Given the description of an element on the screen output the (x, y) to click on. 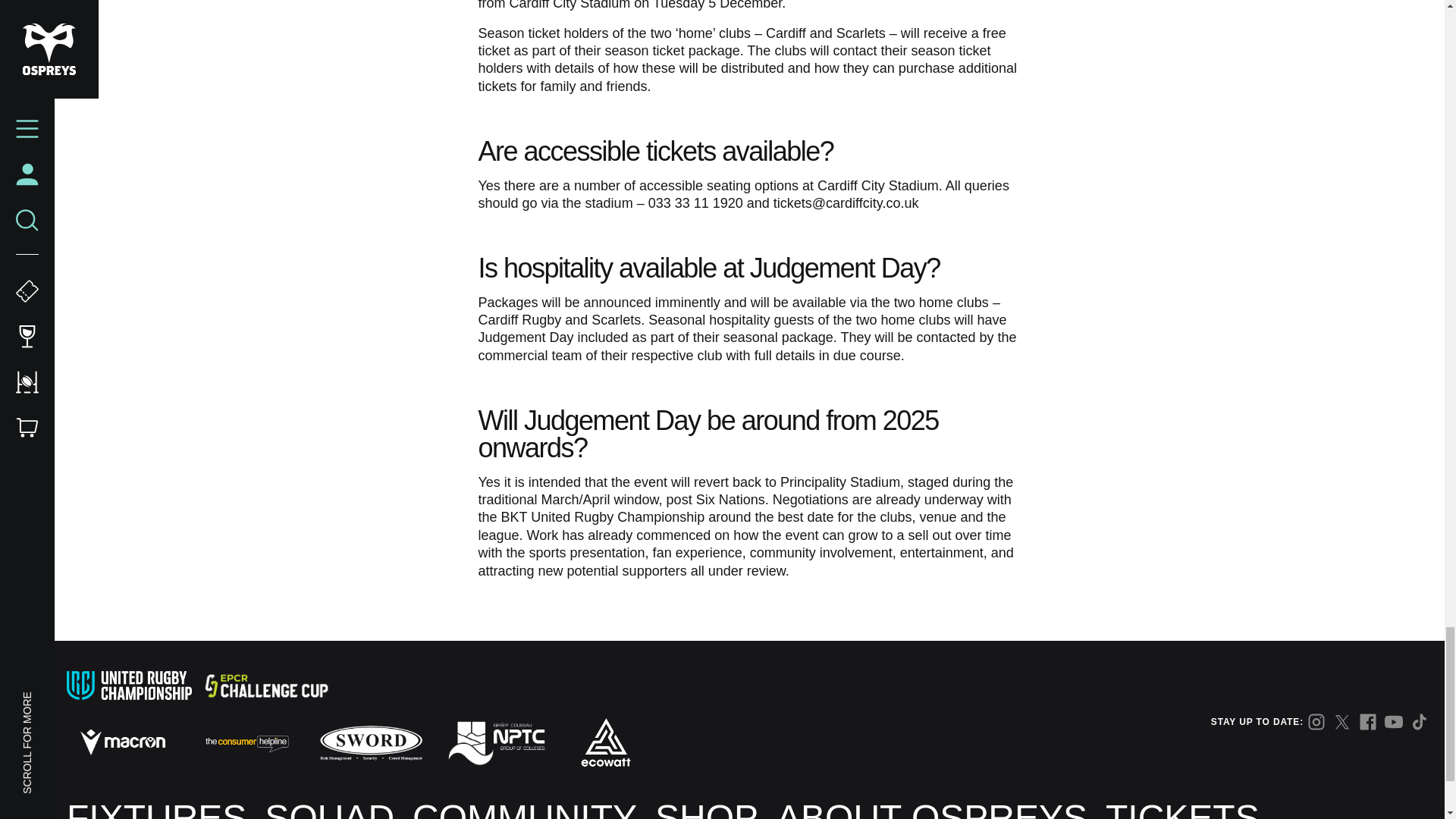
Macron (122, 742)
NPTC (495, 741)
Ecowatt (605, 742)
European Challenge Cup (266, 685)
Facebook (1367, 721)
United Rugby Championship (129, 685)
Instagram (1315, 721)
YouTube (1393, 721)
TikTok (1419, 721)
The Consumer Helpline (246, 742)
Sword (371, 742)
